Given the description of an element on the screen output the (x, y) to click on. 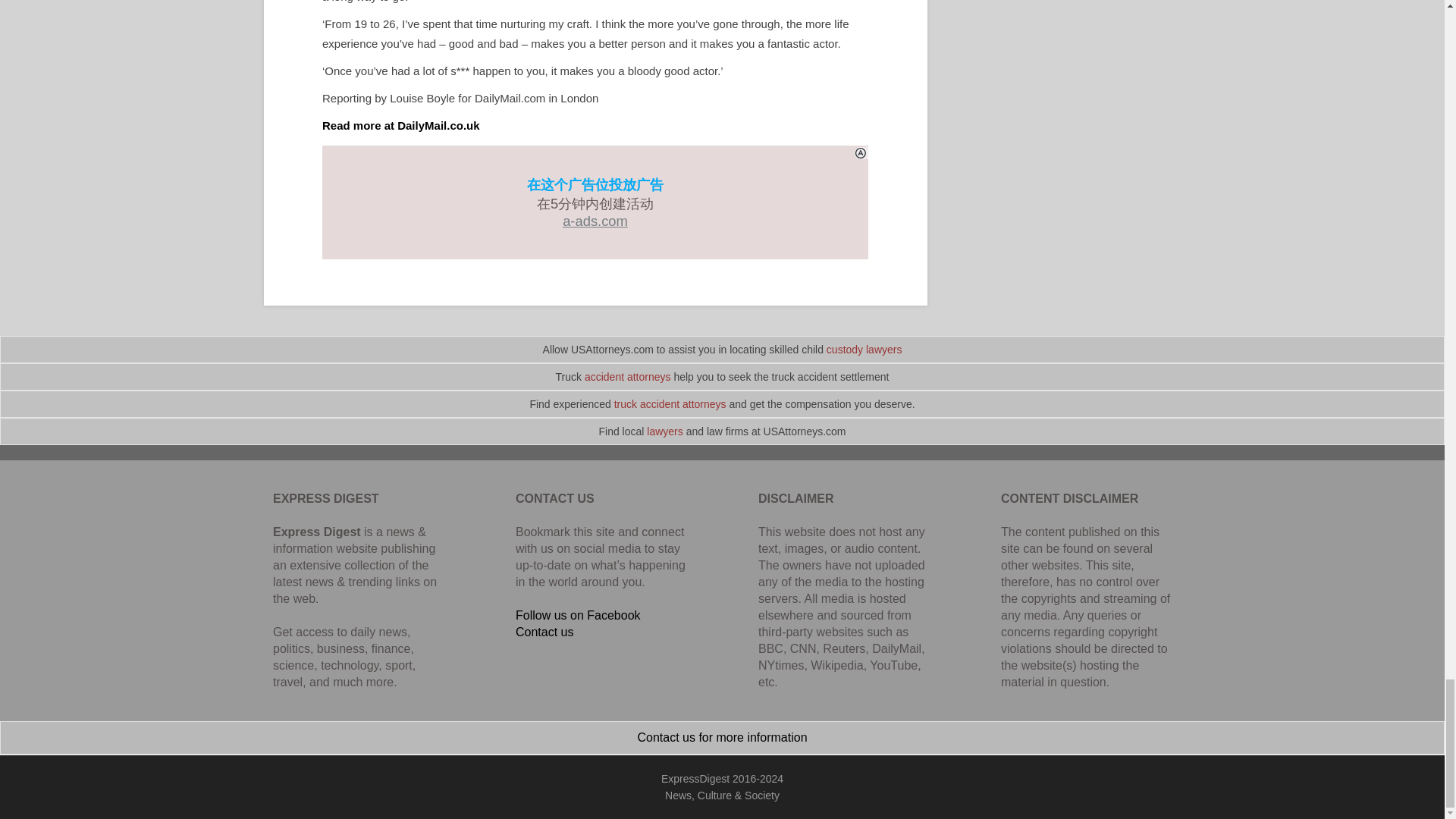
accident attorneys (628, 377)
lawyers (664, 431)
truck accident attorneys (670, 404)
custody lawyers (864, 349)
Read more at DailyMail.co.uk (400, 124)
